Given the description of an element on the screen output the (x, y) to click on. 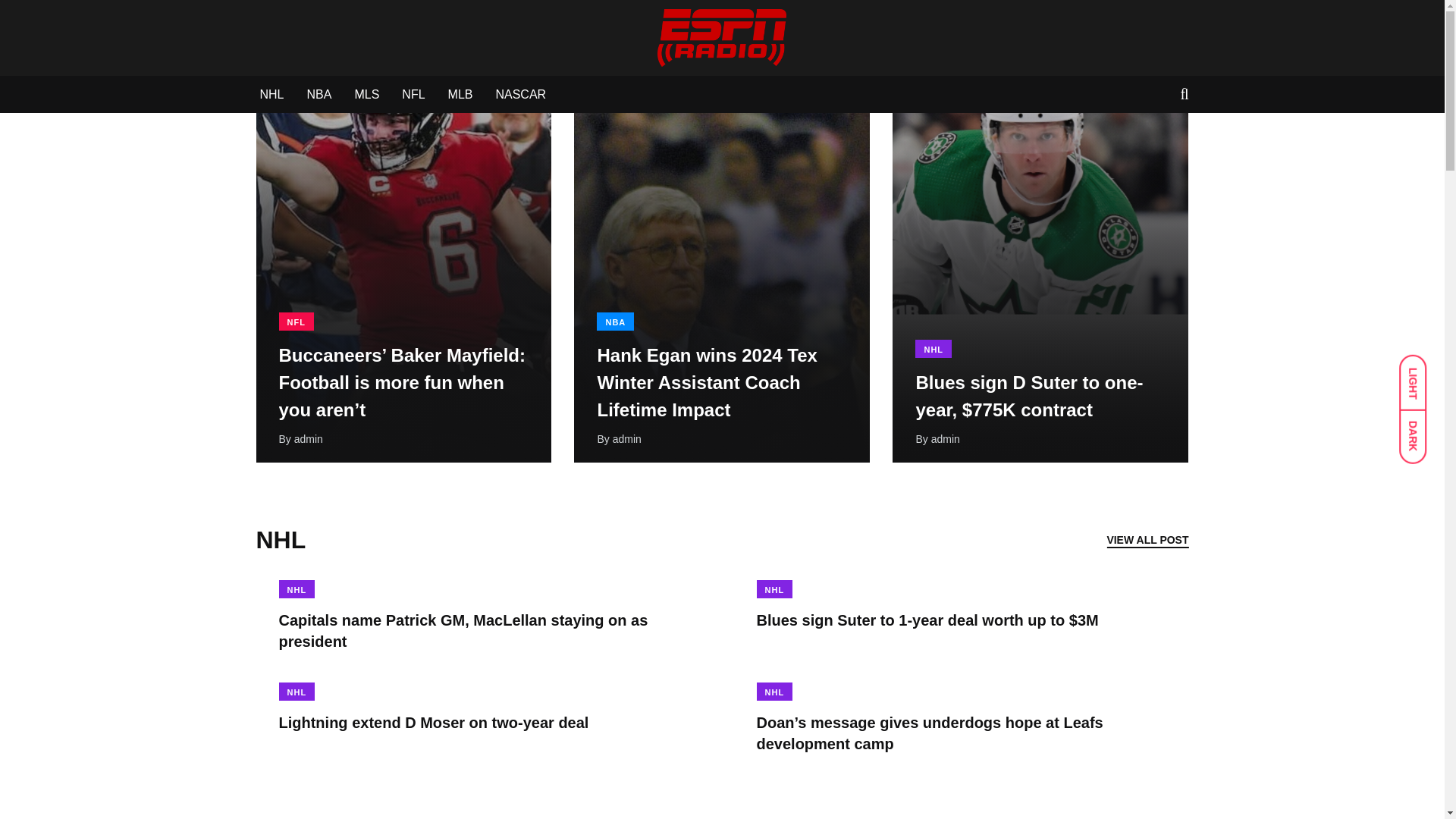
admin (308, 439)
NFL (296, 321)
NHL (775, 691)
admin (627, 439)
Light Mode (1420, 375)
NHL (933, 348)
VIEW ALL POST (1147, 539)
MLS (365, 94)
NASCAR (520, 94)
Dark Mode (1419, 428)
